Given the description of an element on the screen output the (x, y) to click on. 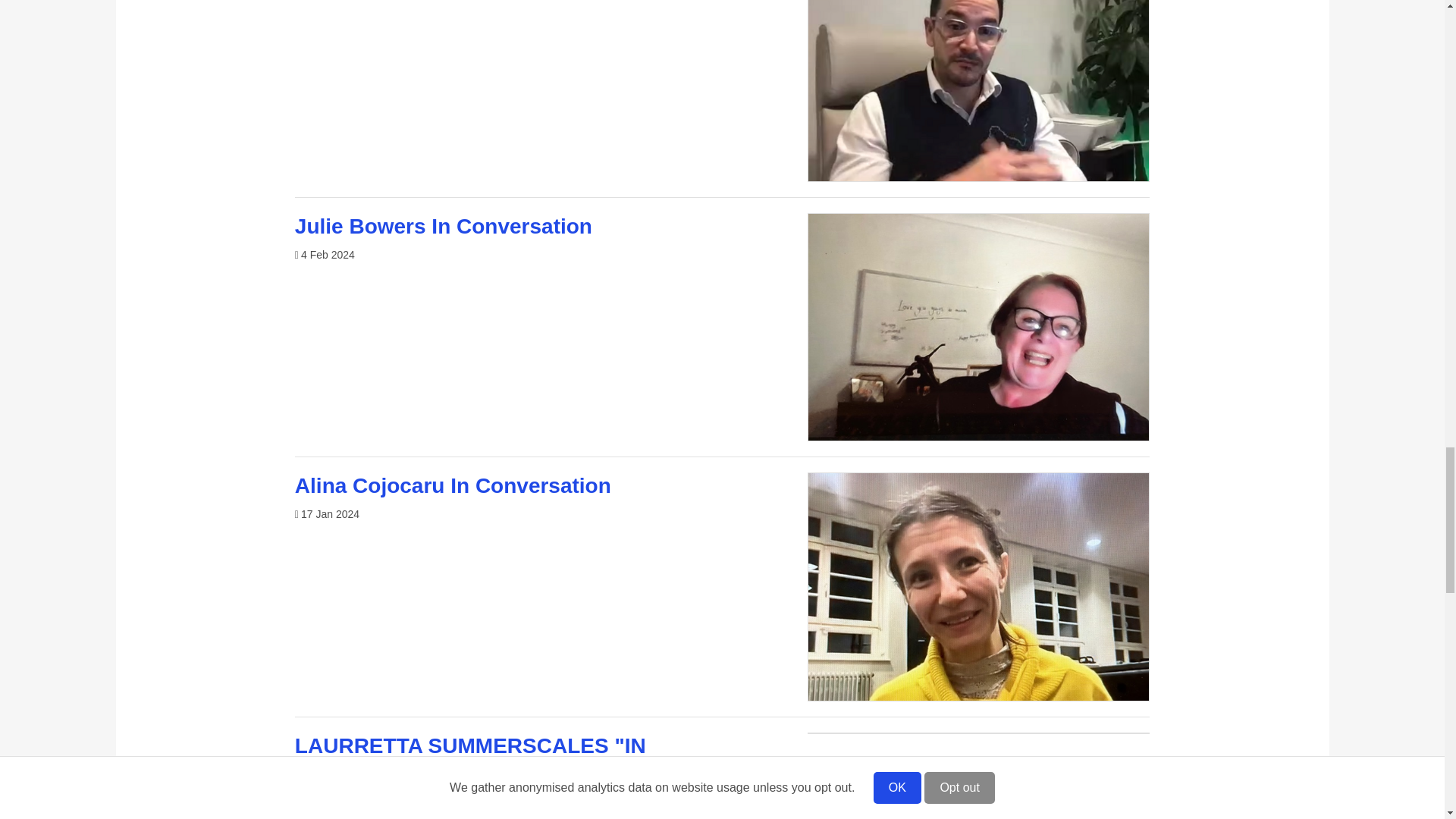
Alina Cojocaru In Conversation (453, 485)
LAURRETTA SUMMERSCALES "IN CONVERSATION" (470, 758)
Julie Bowers In Conversation (443, 226)
